Given the description of an element on the screen output the (x, y) to click on. 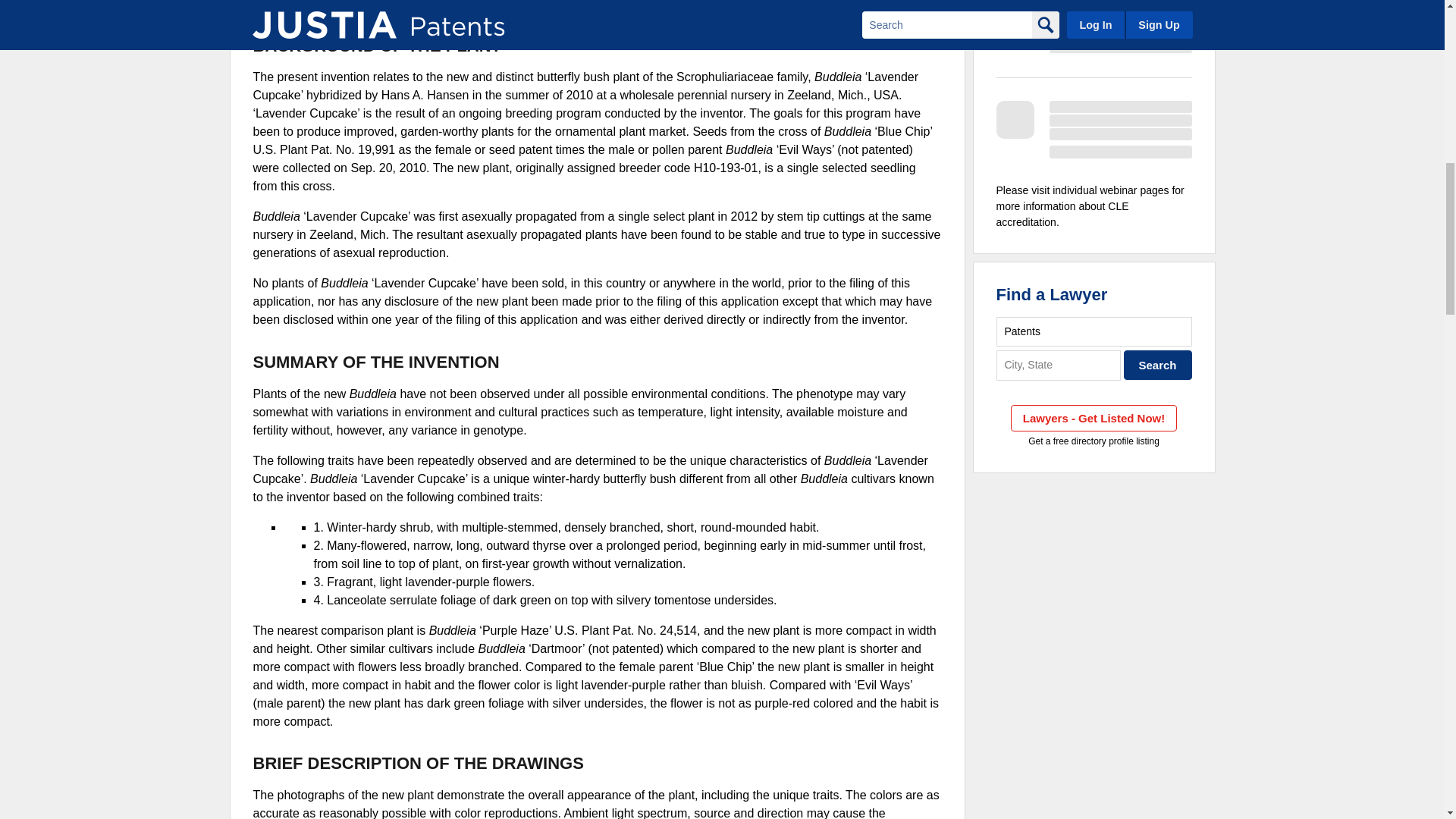
Search (1158, 365)
Legal Issue or Lawyer Name (1093, 331)
Patents (1093, 331)
City, State (1058, 365)
Search (1158, 365)
